Given the description of an element on the screen output the (x, y) to click on. 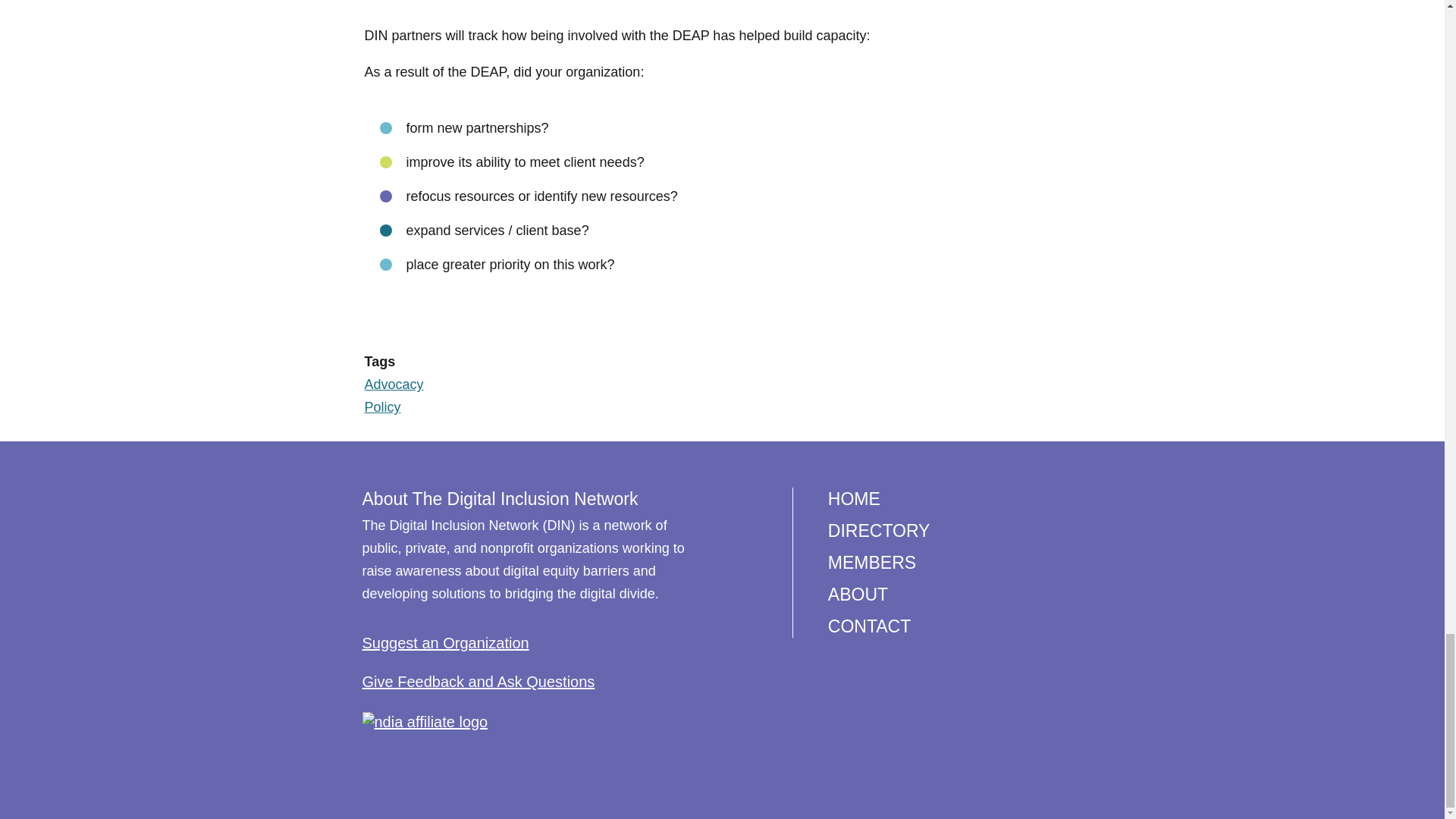
ABOUT (858, 594)
Give Feedback and Ask Questions (478, 681)
Advocacy (393, 384)
Suggest an Organization (445, 642)
CONTACT (869, 626)
MEMBERS (871, 562)
Policy (382, 406)
DIRECTORY (879, 530)
HOME (854, 498)
